Given the description of an element on the screen output the (x, y) to click on. 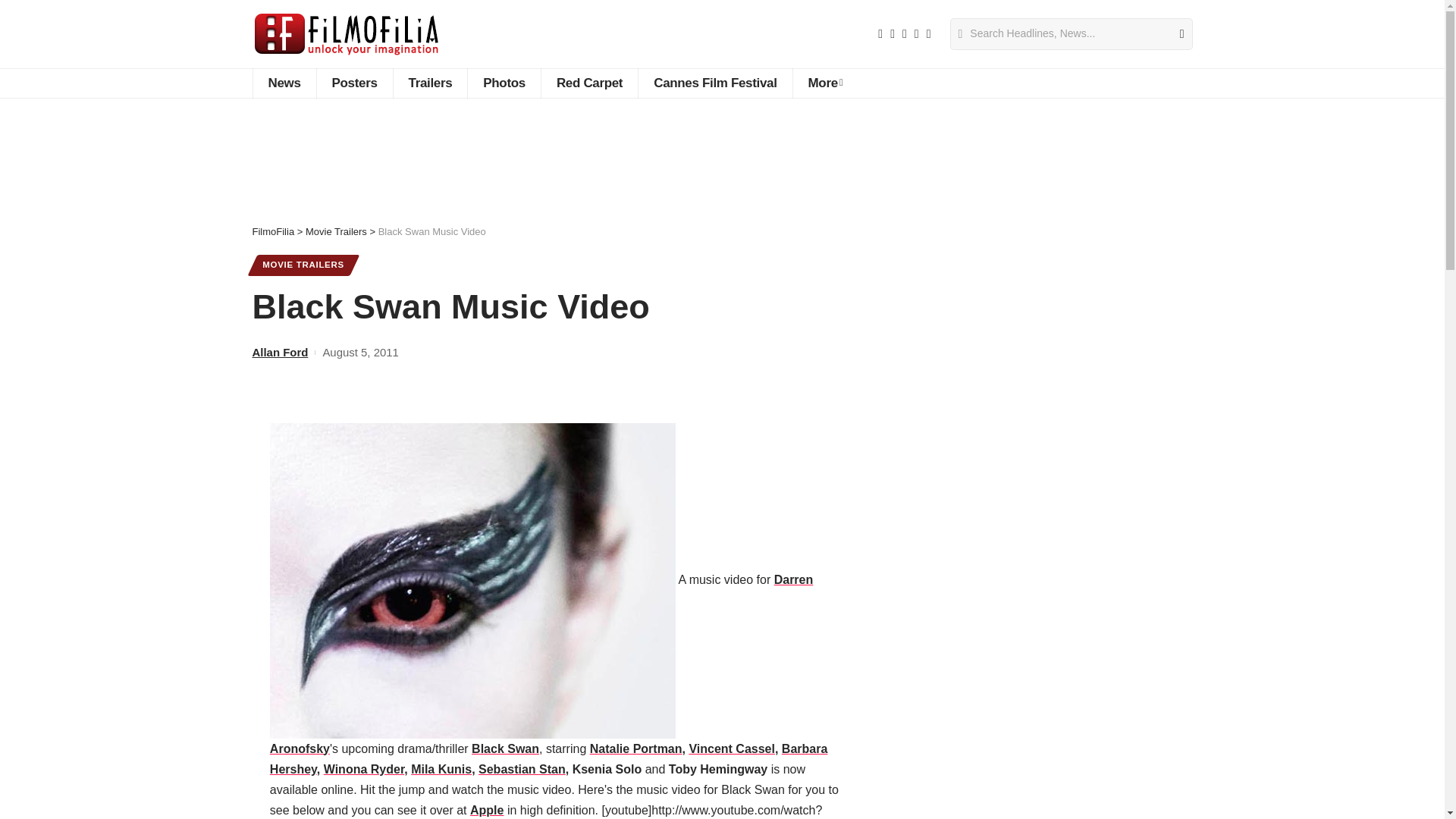
Red Carpet (588, 82)
Black Swan (472, 580)
Posts tagged with darren aronofsky (540, 664)
Posts tagged with Winona Ryder (363, 768)
Photos (503, 82)
More (825, 82)
Posters (354, 82)
Posts tagged with Black Swan (504, 748)
Cannes Film Festival (714, 82)
Posts tagged with Vincent Cassel (731, 748)
Posts tagged with Sebastian Stan (522, 768)
Search (1175, 33)
Trailers (430, 82)
FilmoFilia (346, 33)
Go to FilmoFilia. (272, 231)
